Given the description of an element on the screen output the (x, y) to click on. 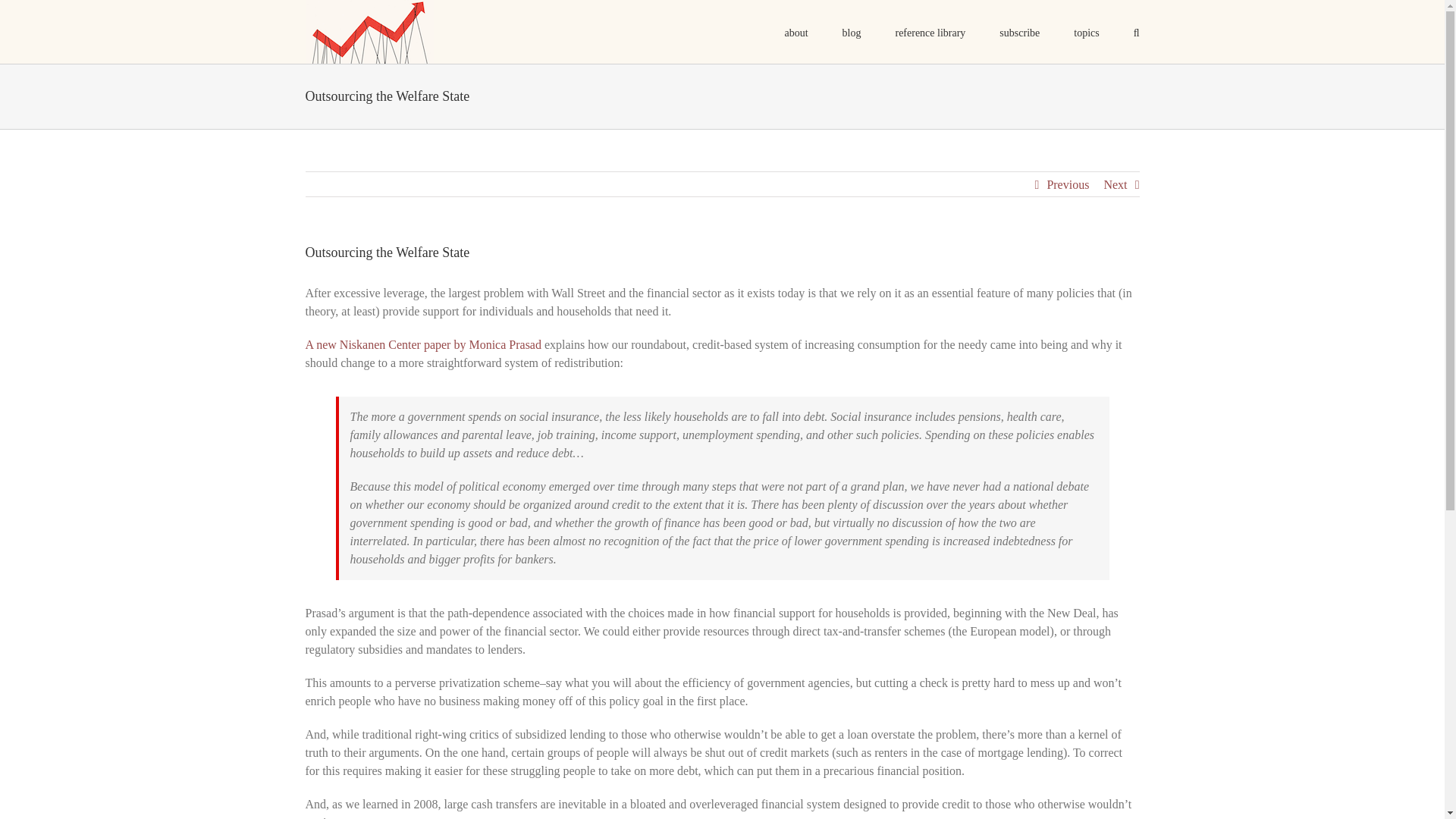
reference library (930, 31)
A new Niskanen Center paper by Monica Prasad (422, 344)
Previous (1067, 184)
Next (1114, 184)
